Given the description of an element on the screen output the (x, y) to click on. 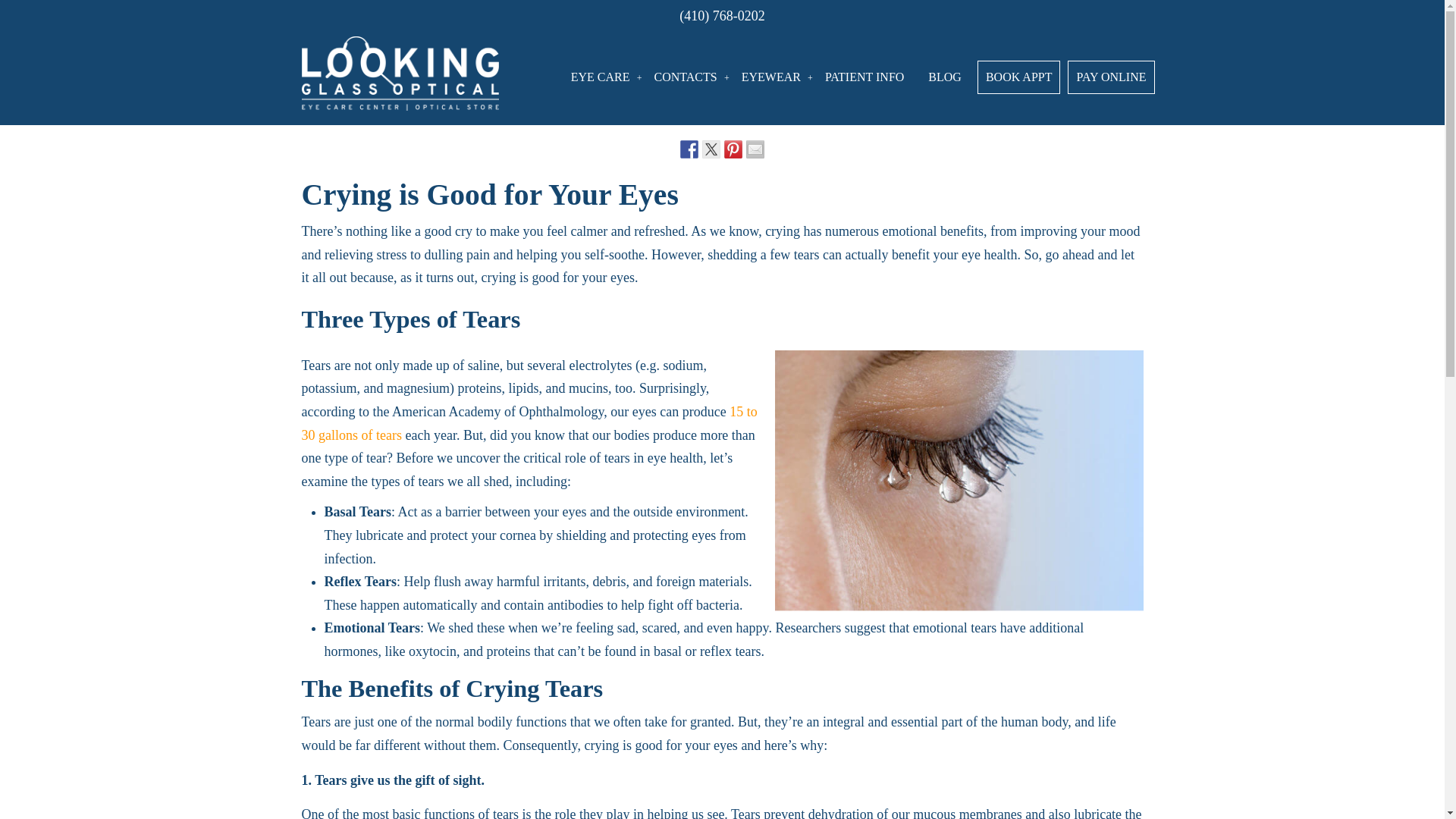
Looking Glass Optical (400, 72)
15 to 30 gallons of tears (529, 423)
Share by email (754, 149)
EYE CARE (600, 77)
Pin it with Pinterest (732, 149)
CONTACTS (685, 77)
Share on Twitter (710, 149)
EYEWEAR (770, 77)
BOOK APPT (1019, 77)
BLOG (944, 77)
